Given the description of an element on the screen output the (x, y) to click on. 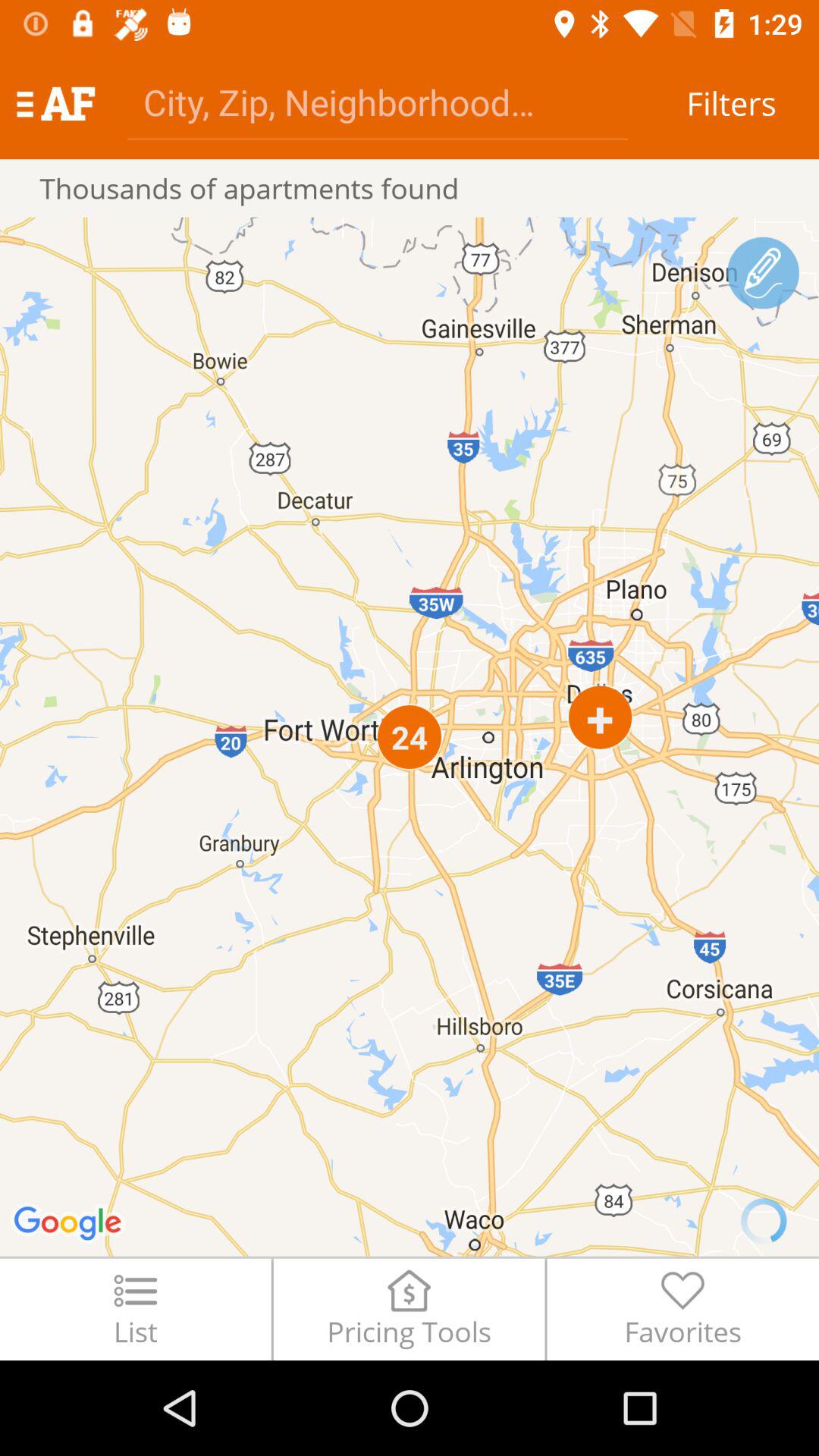
jump to the list (135, 1309)
